Given the description of an element on the screen output the (x, y) to click on. 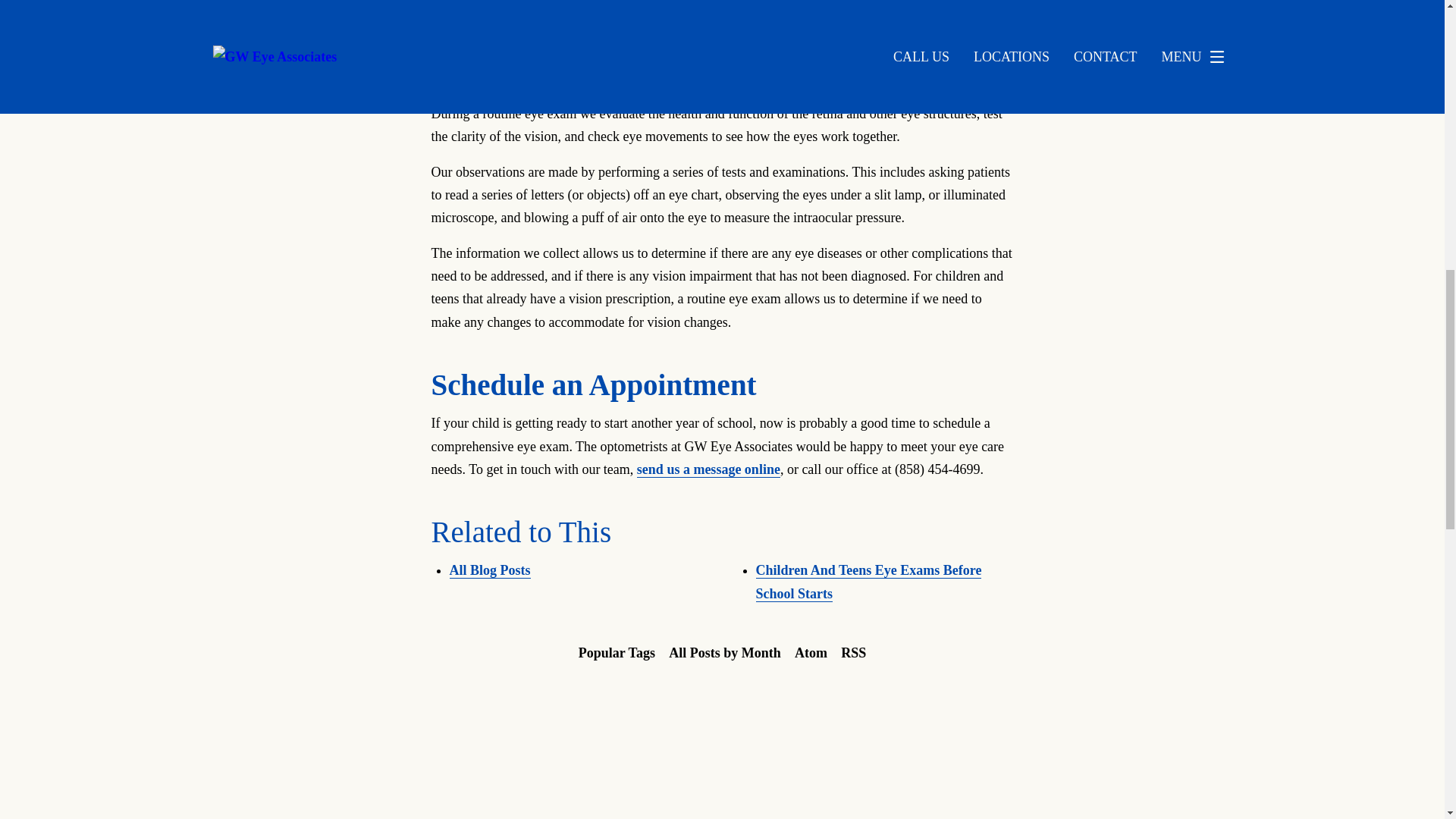
All Blog Posts (488, 570)
RSS (853, 652)
send us a message online (708, 469)
Atom (810, 652)
Children And Teens Eye Exams Before School Starts (868, 581)
Popular Tags (617, 652)
All Posts by Month (724, 652)
